Given the description of an element on the screen output the (x, y) to click on. 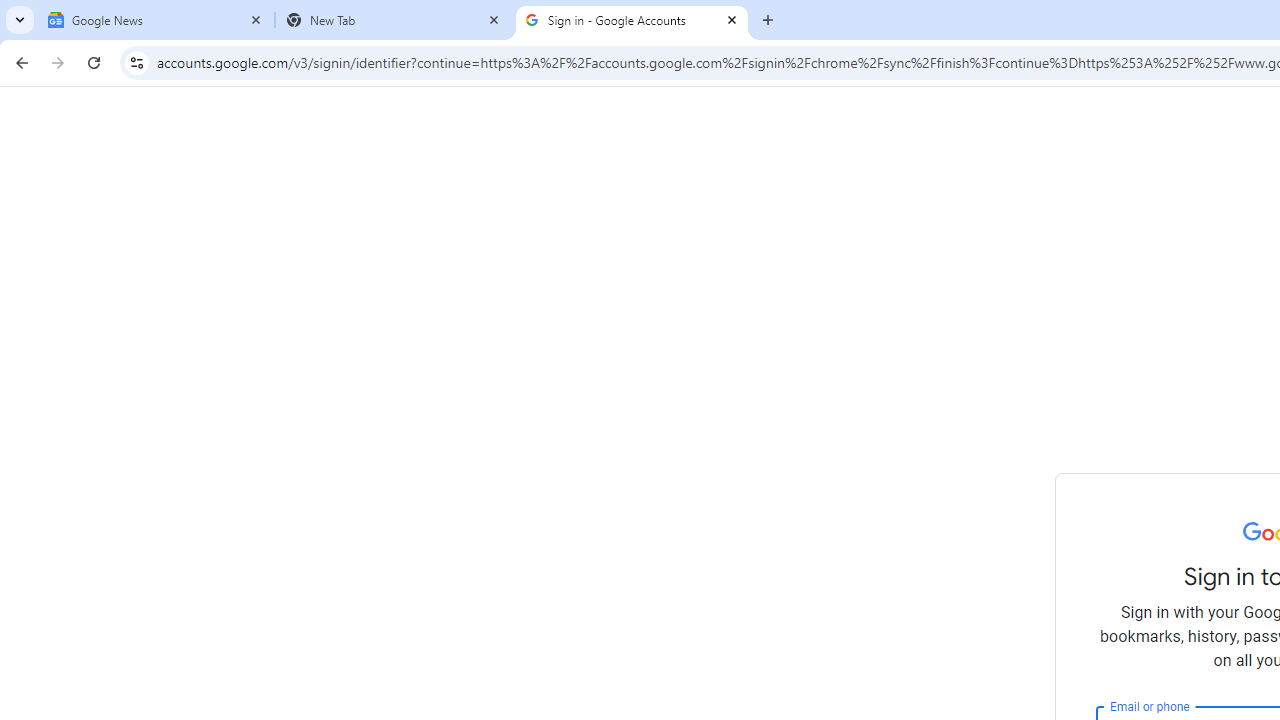
New Tab (394, 20)
Sign in - Google Accounts (632, 20)
Google News (156, 20)
